Given the description of an element on the screen output the (x, y) to click on. 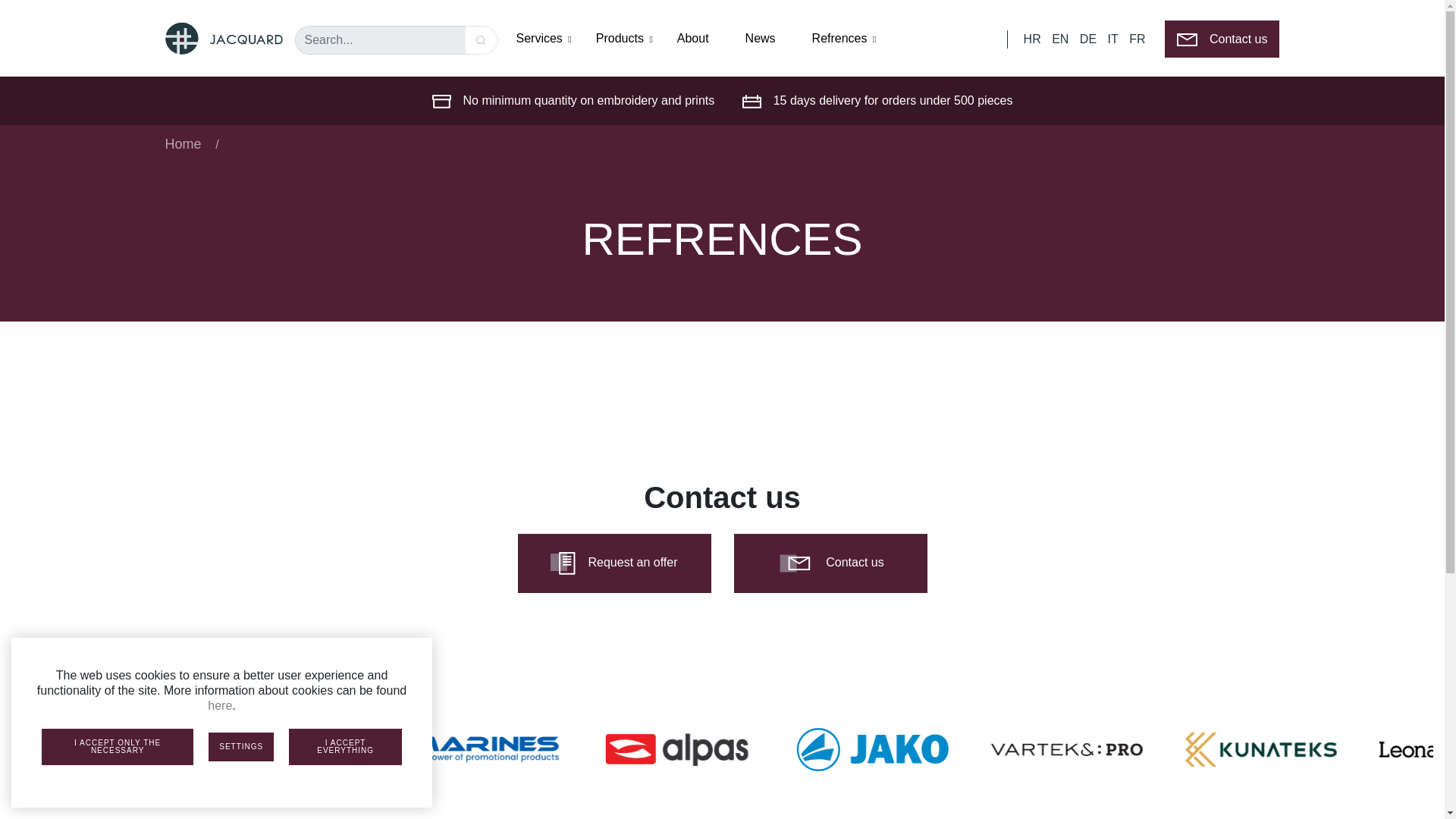
News (760, 37)
About (692, 37)
Refrences (844, 37)
Services (542, 37)
Products (624, 37)
